Given the description of an element on the screen output the (x, y) to click on. 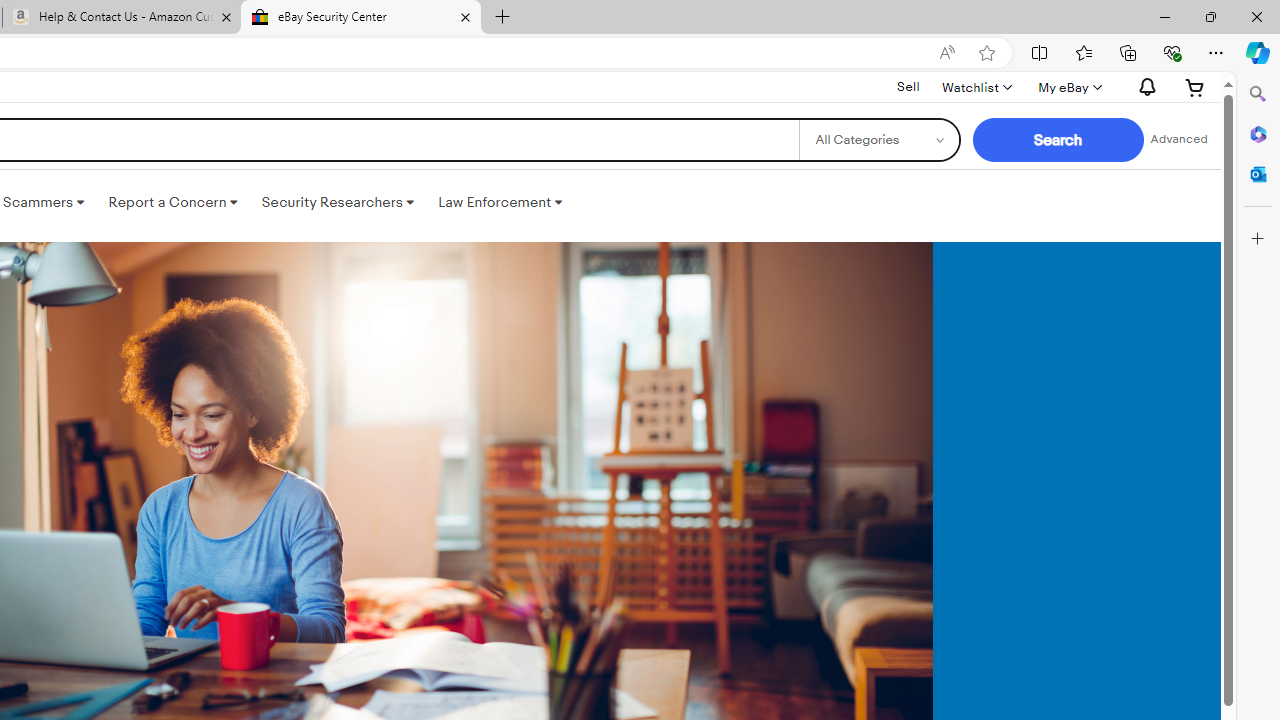
Expand Cart (1195, 87)
Report a Concern  (173, 202)
AutomationID: gh-eb-Alerts (1144, 87)
Sell (907, 86)
Sell (908, 87)
Security Researchers  (337, 202)
Your shopping cart (1195, 87)
Advanced Search (1179, 139)
Security Researchers  (337, 202)
